Given the description of an element on the screen output the (x, y) to click on. 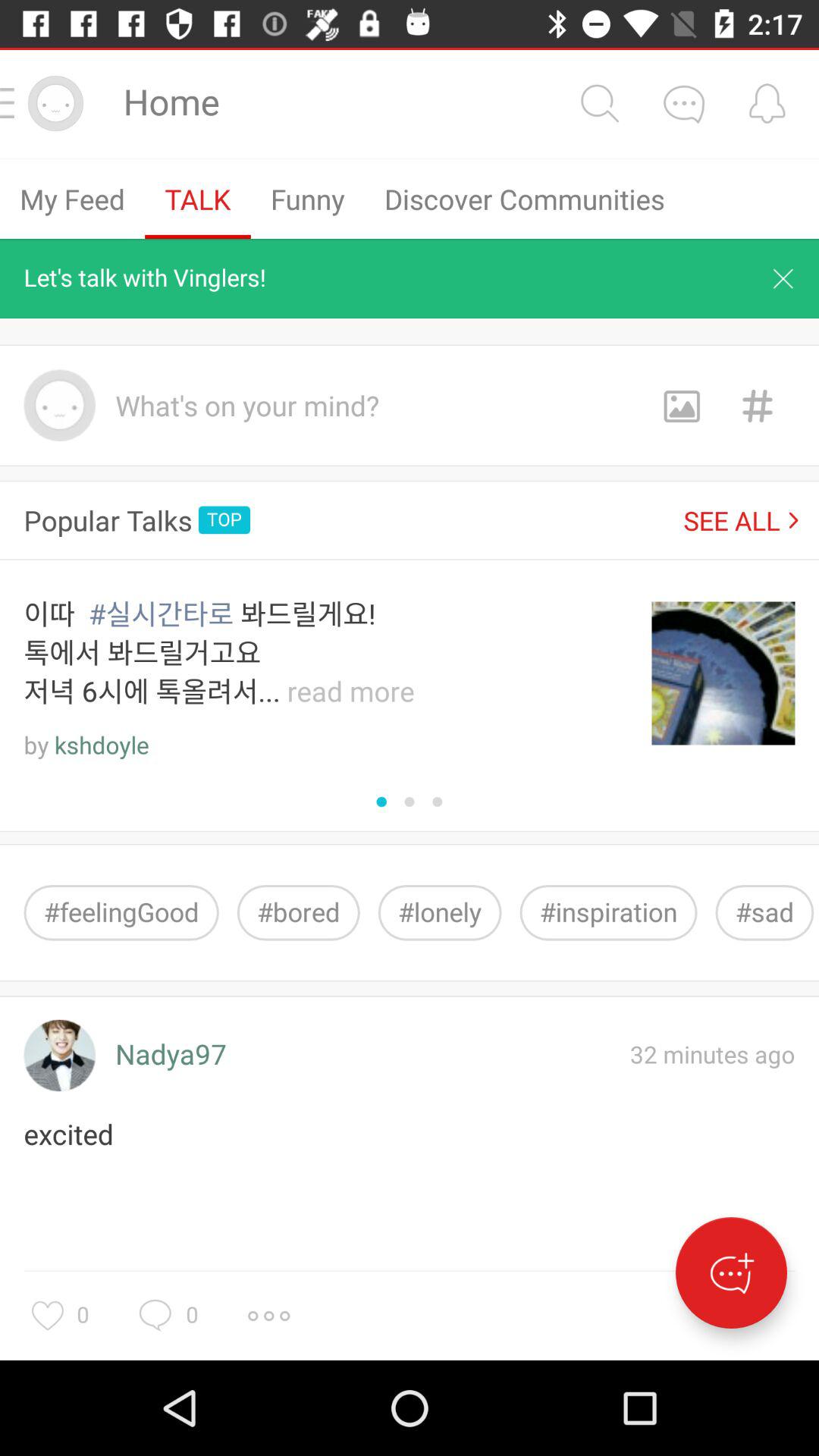
more option (268, 1315)
